Given the description of an element on the screen output the (x, y) to click on. 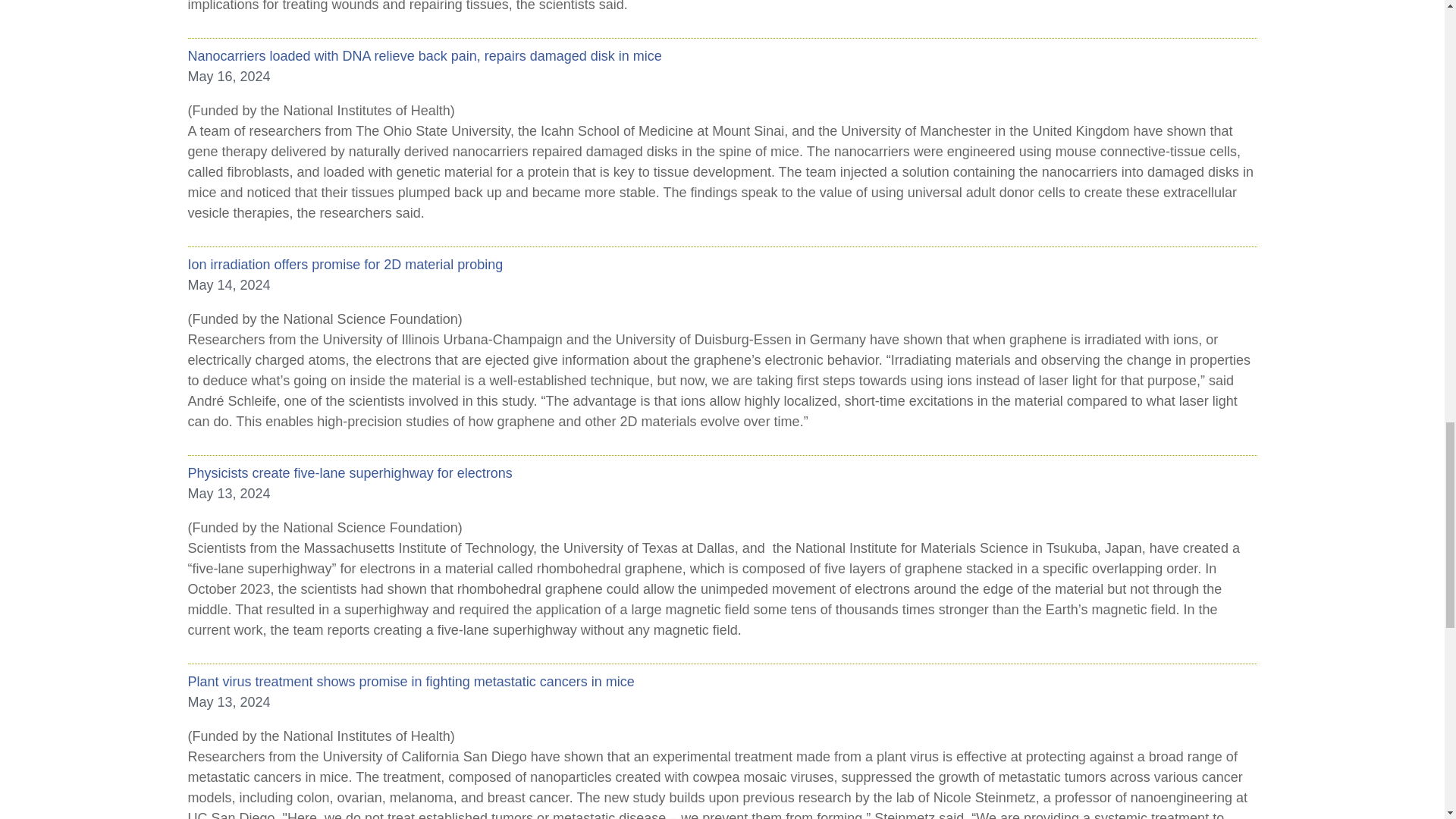
Physicists create five-lane superhighway for electrons (722, 473)
Ion irradiation offers promise for 2D material probing (722, 264)
